Given the description of an element on the screen output the (x, y) to click on. 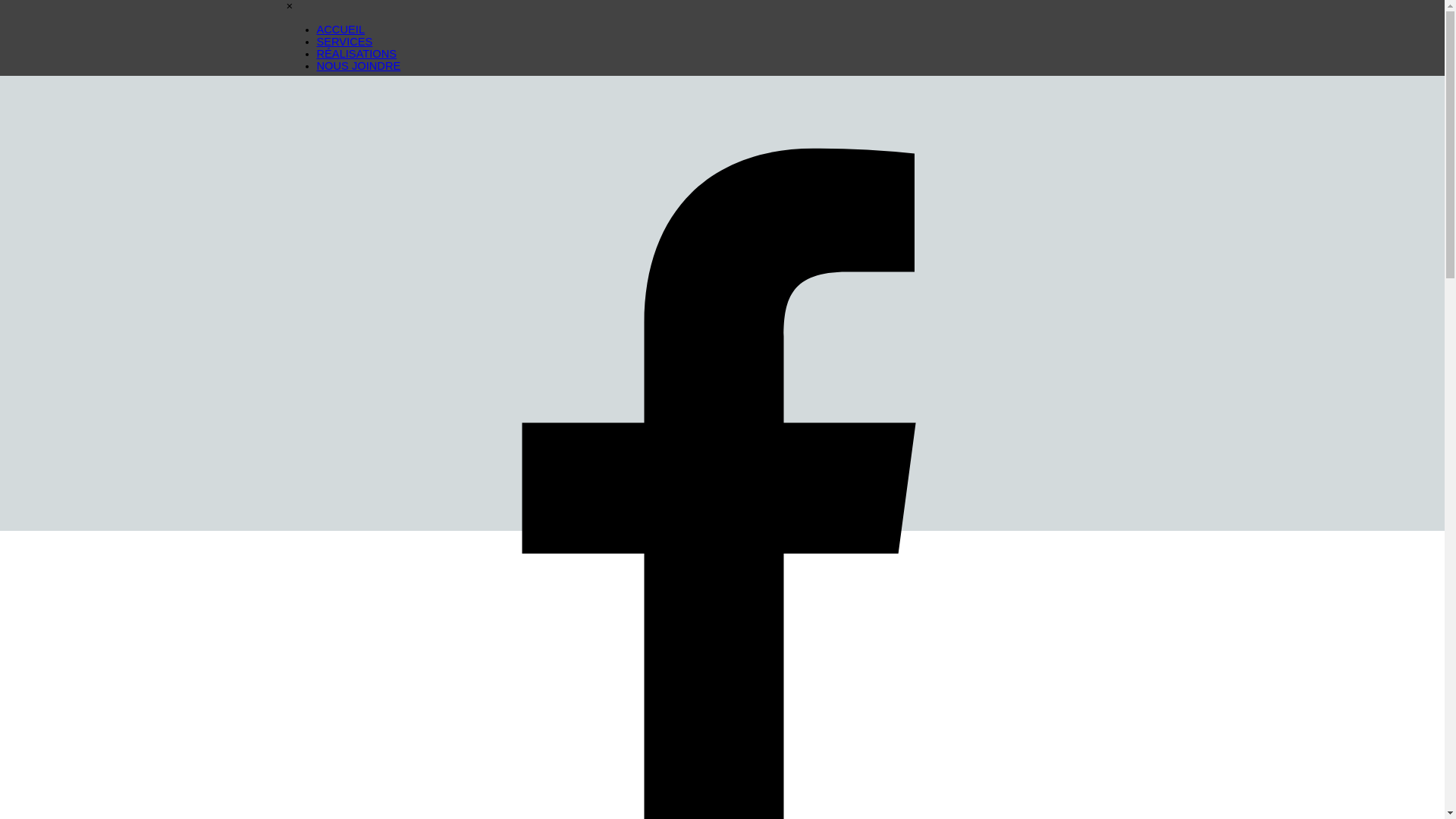
SERVICES Element type: text (344, 41)
NOUS JOINDRE Element type: text (358, 65)
ACCUEIL Element type: text (340, 29)
